Given the description of an element on the screen output the (x, y) to click on. 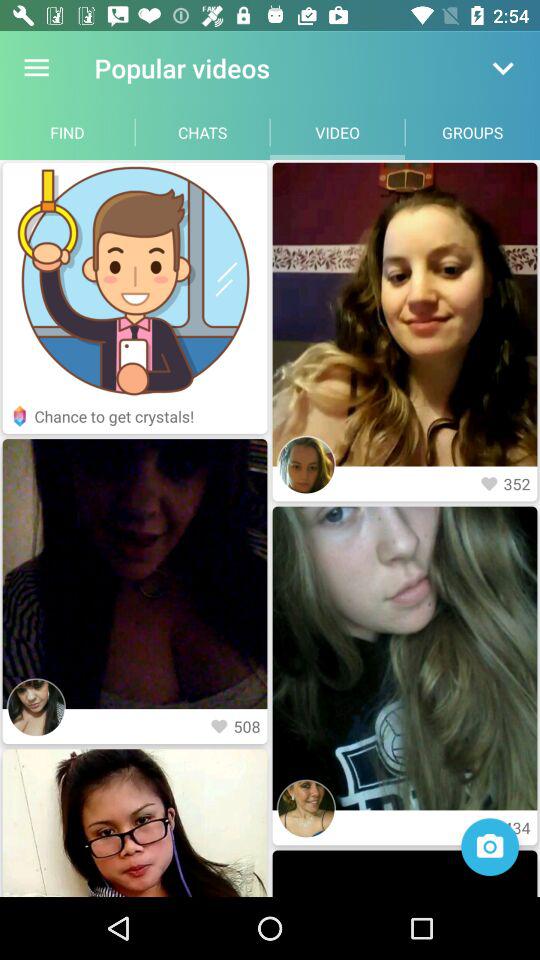
take photo (490, 847)
